Given the description of an element on the screen output the (x, y) to click on. 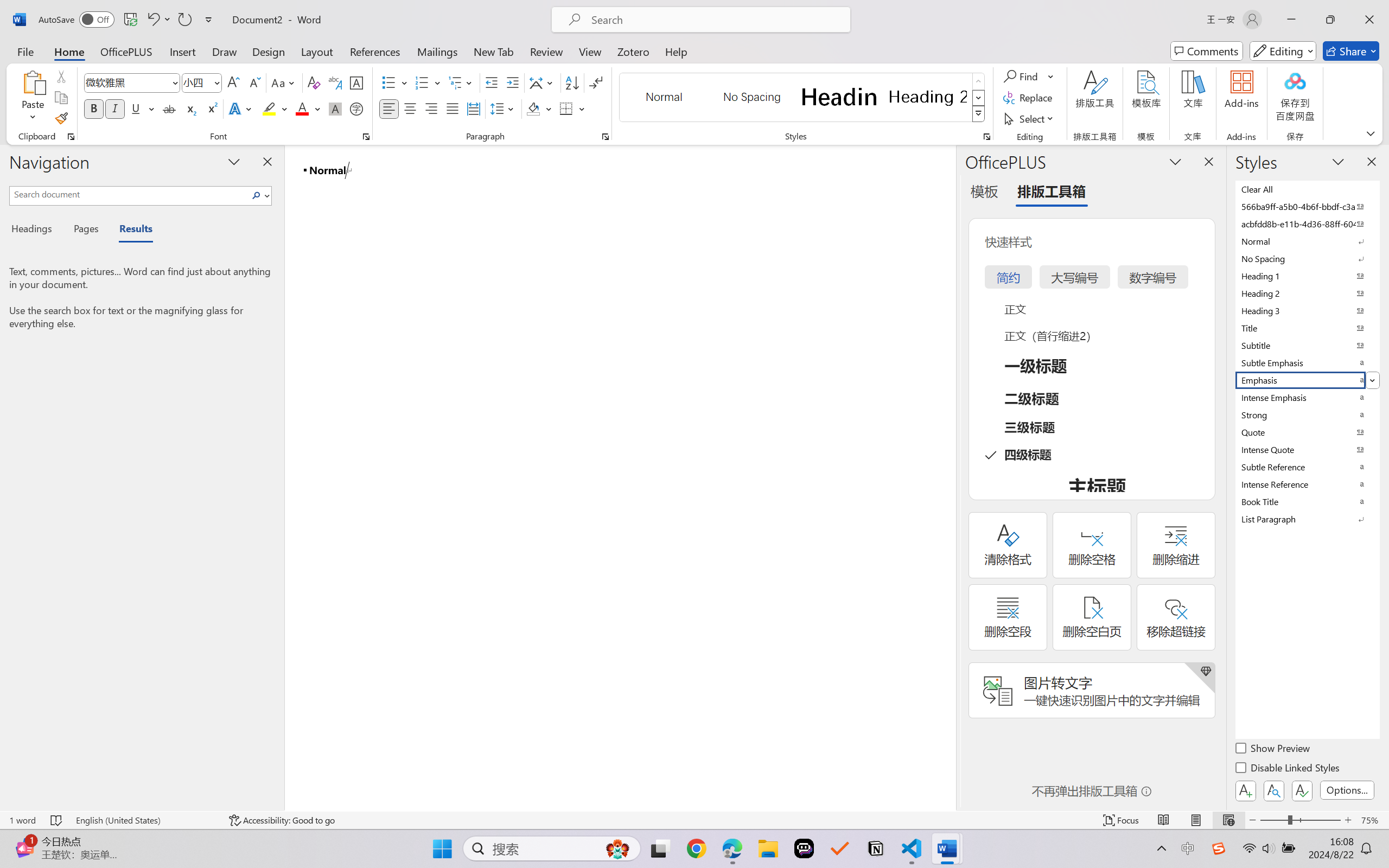
Quick Access Toolbar (127, 19)
View (589, 51)
Bullets (388, 82)
Options... (1346, 789)
Shading RGB(0, 0, 0) (533, 108)
Search (256, 195)
Distributed (473, 108)
Styles (978, 113)
Minimize (1291, 19)
Bold (94, 108)
Headings (35, 229)
Undo Style (158, 19)
